Given the description of an element on the screen output the (x, y) to click on. 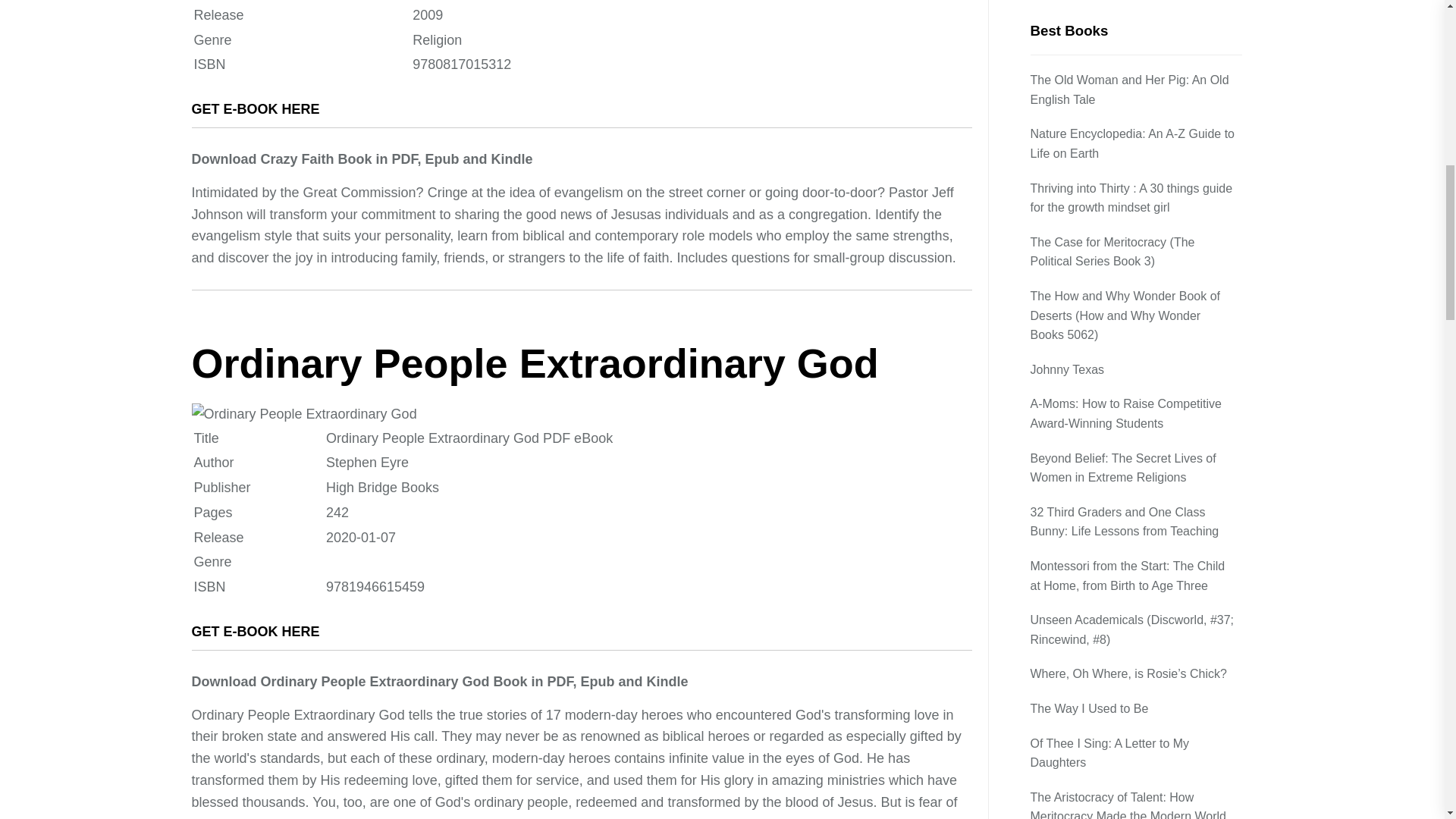
Famous STEM Inventors (1099, 213)
GET E-BOOK HERE (254, 631)
The Way I Used to Be (1091, 6)
Make Good Art (1072, 178)
To Sir, With Love (1077, 144)
Of Thee I Sing: A Letter to My Daughters (1135, 46)
GET E-BOOK HERE (254, 109)
Ways of Seeing (1074, 248)
